Given the description of an element on the screen output the (x, y) to click on. 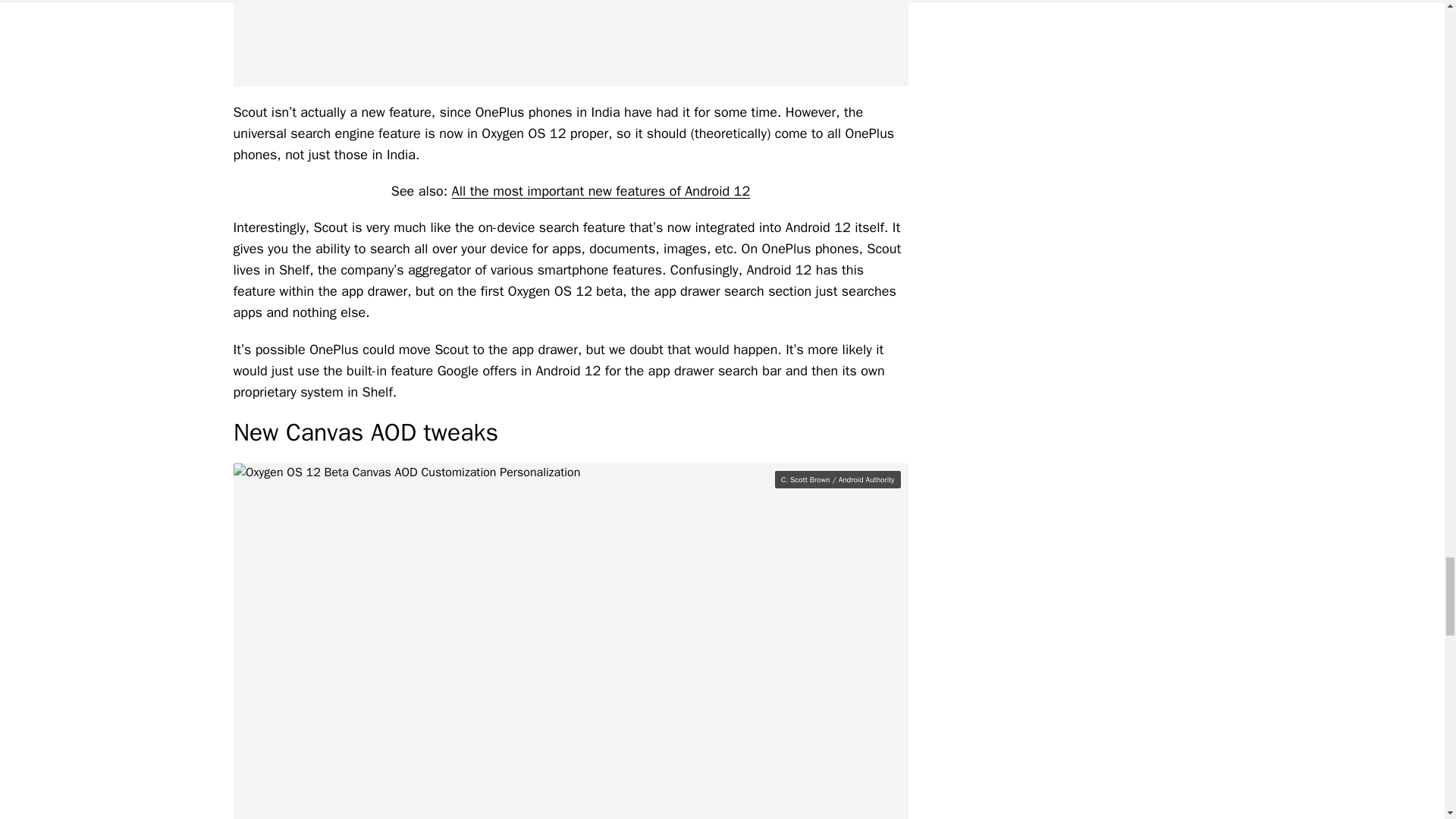
All the most important new features of Android 12 (601, 190)
Oxygen OS 12 Beta Scout Search (570, 43)
